Given the description of an element on the screen output the (x, y) to click on. 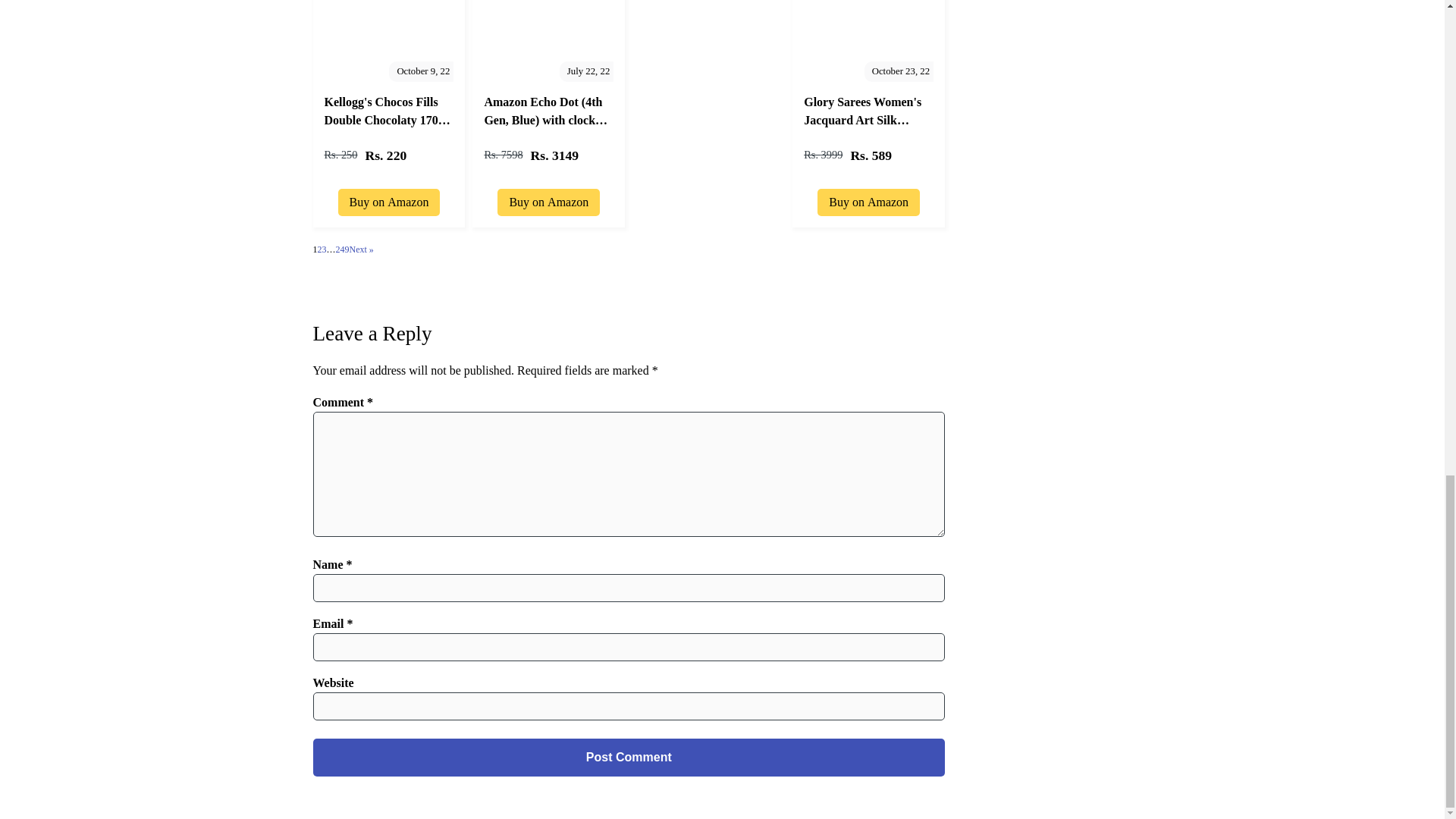
Post Comment (628, 757)
Post Comment (628, 757)
249 (341, 249)
Buy on Amazon (868, 198)
Buy on Amazon (389, 198)
Buy on Amazon (548, 198)
